Given the description of an element on the screen output the (x, y) to click on. 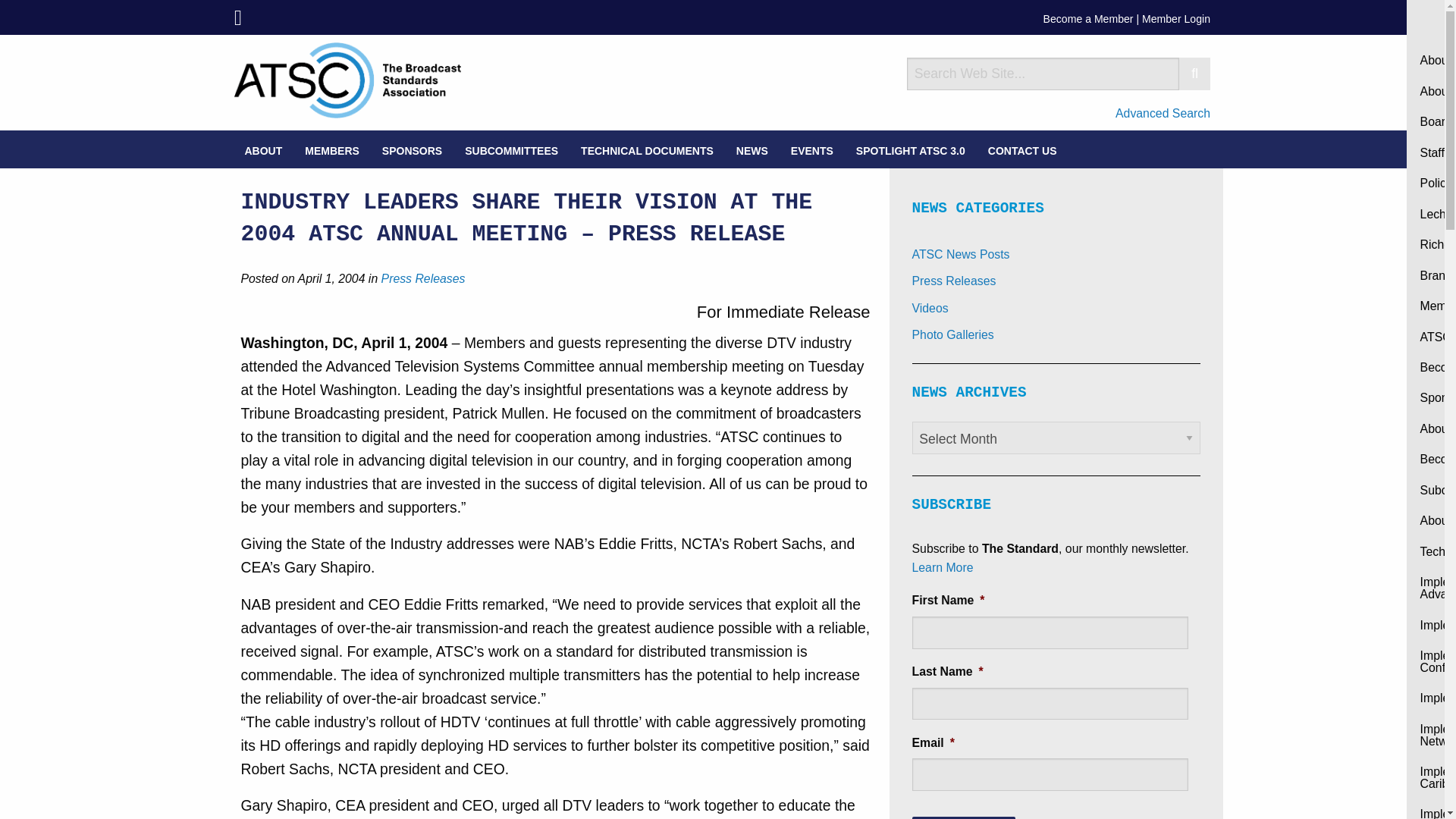
Search for: (1043, 73)
